Given the description of an element on the screen output the (x, y) to click on. 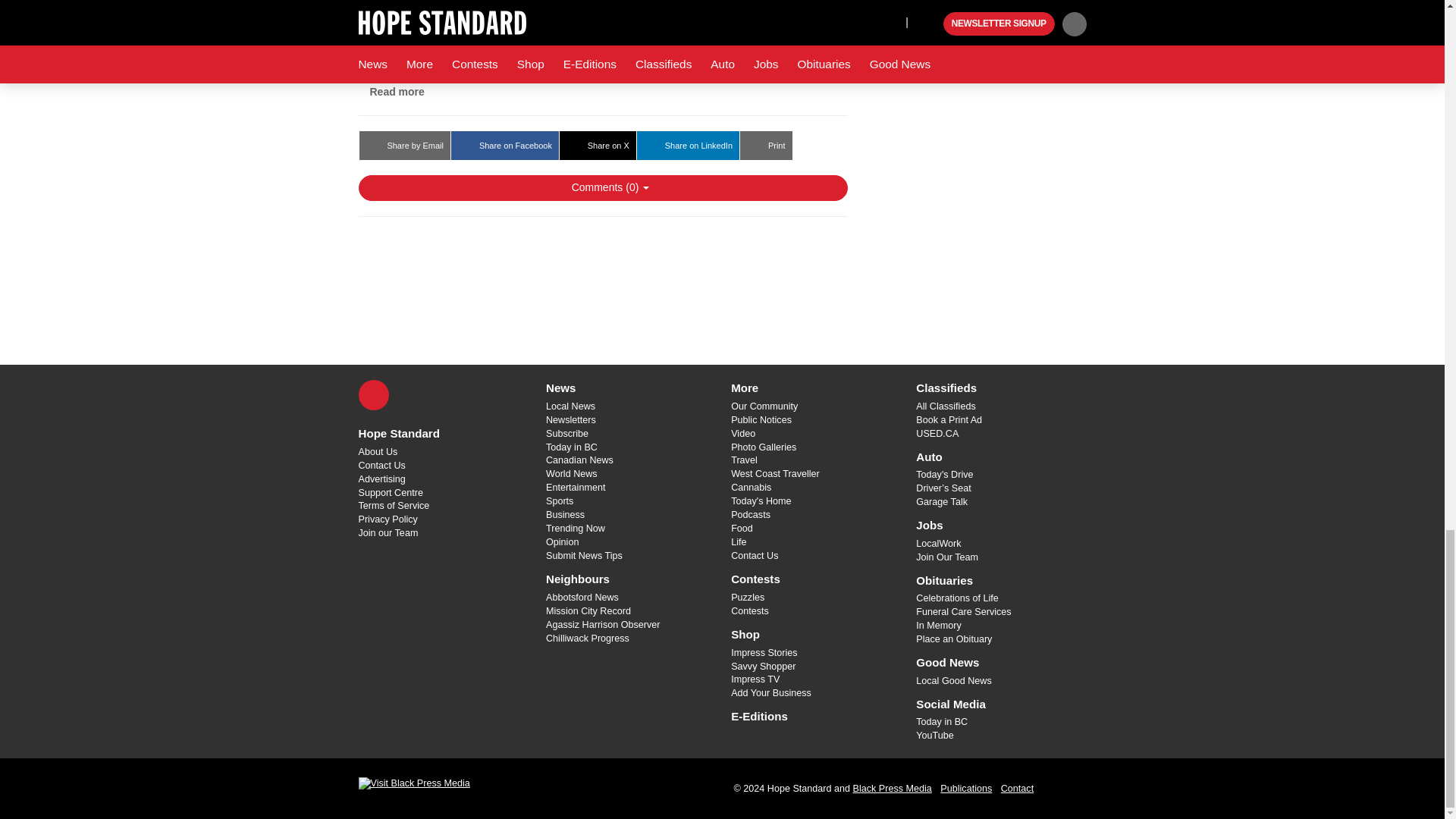
X (373, 395)
Show Comments (602, 187)
